Given the description of an element on the screen output the (x, y) to click on. 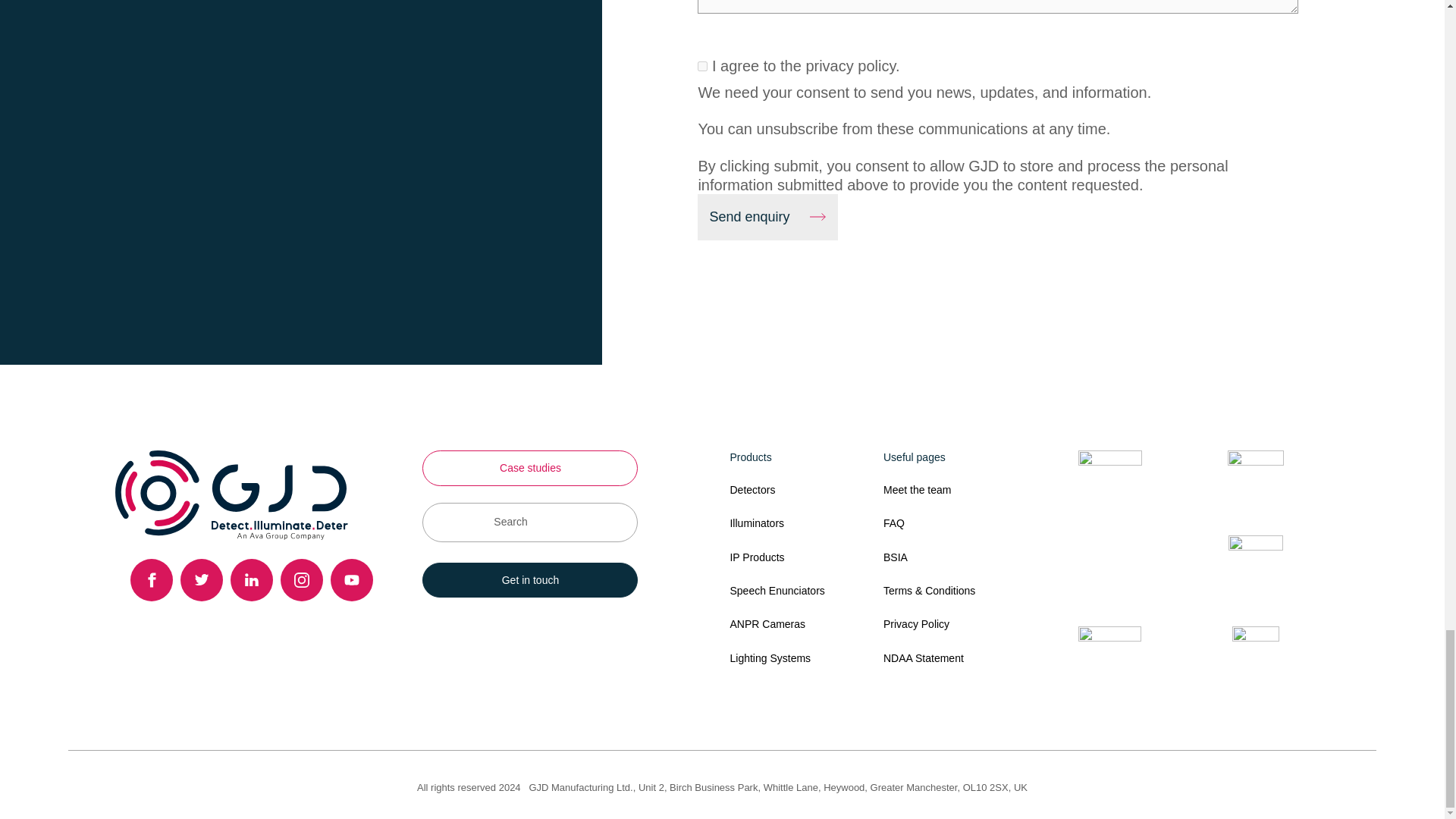
1 (702, 66)
Send enquiry (767, 217)
home (231, 494)
